Given the description of an element on the screen output the (x, y) to click on. 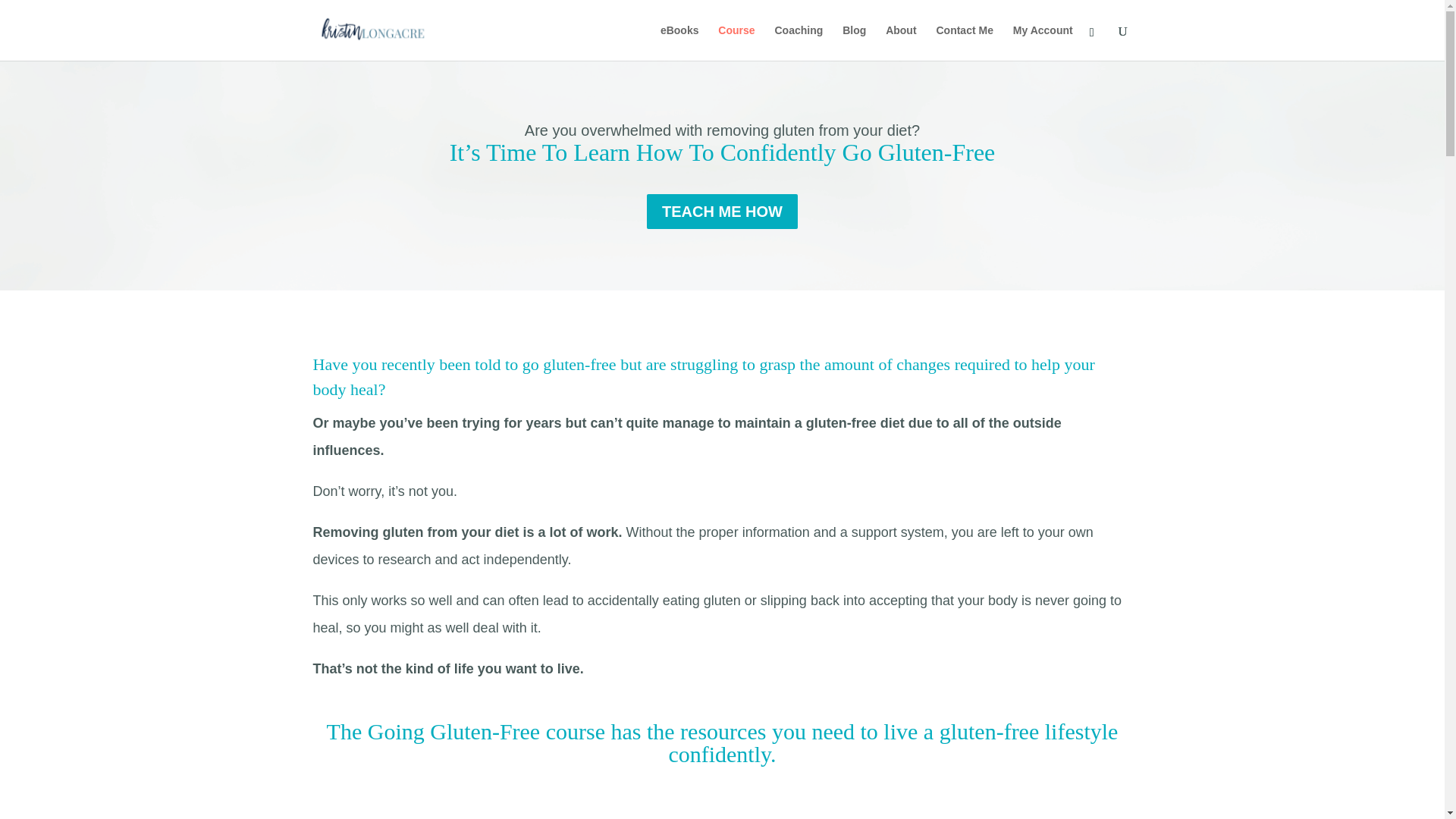
Coaching (798, 42)
Contact Me (964, 42)
Contact Kristin (964, 42)
TEACH ME HOW (721, 211)
Going Gluten-Free (735, 42)
Course (735, 42)
Gluten-Free Coaching (798, 42)
My Account (1043, 42)
eBooks (679, 42)
Going Gluten-Free Course (721, 807)
